Given the description of an element on the screen output the (x, y) to click on. 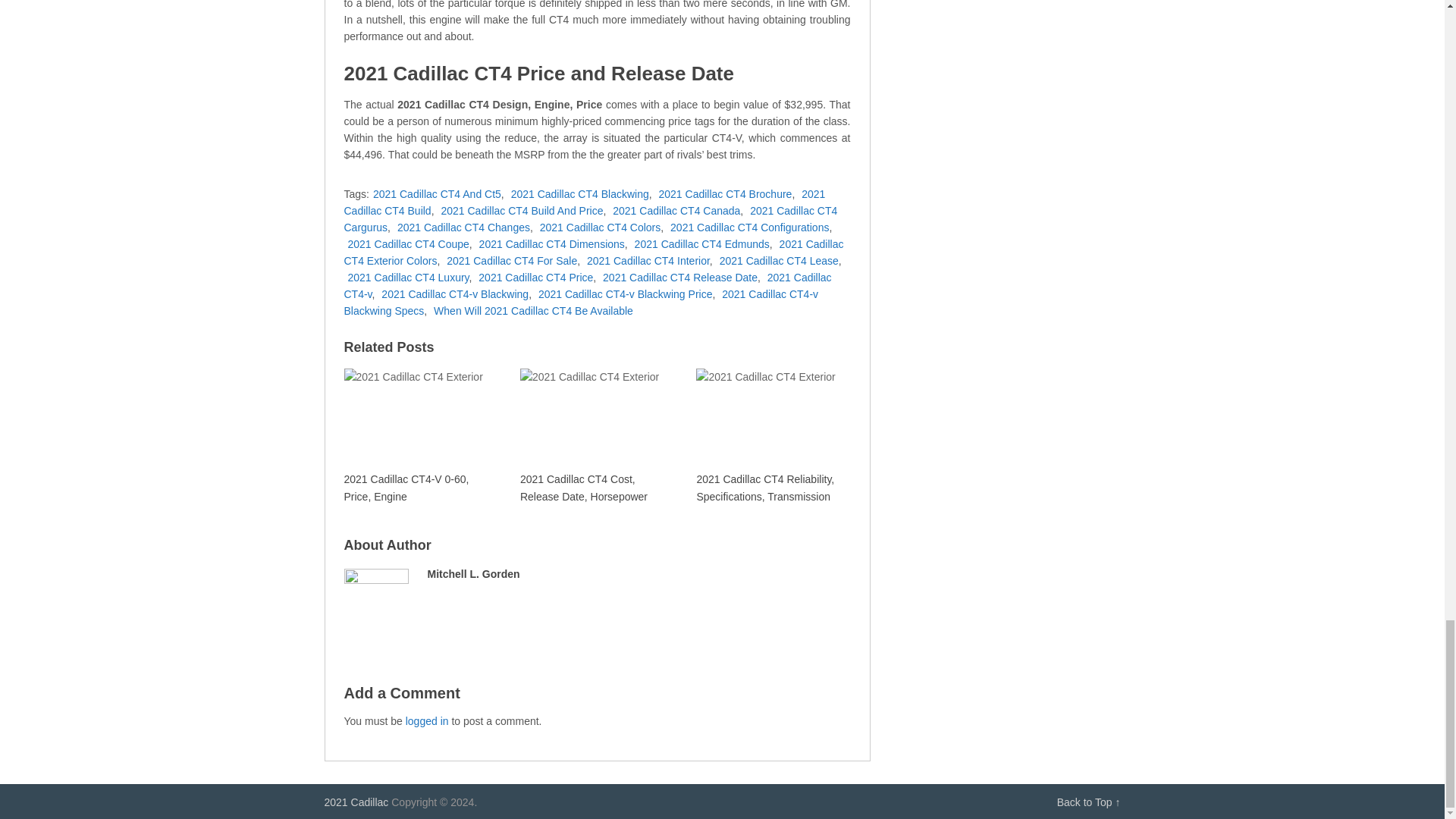
2021 Cadillac CT4 Cost, Release Date, Horsepower (595, 435)
2021 Cadillac CT4 Build (584, 202)
2021 Cadillac CT4 Blackwing (580, 193)
2021 Cadillac CT4 Build And Price (521, 210)
2021 Cadillac CT4 Cargurus (590, 218)
2021-2022 Cadillac Design, Engine, Price, Release (356, 802)
2021 Cadillac CT4 Changes (463, 227)
2021 Cadillac CT4 Reliability, Specifications, Transmission (771, 435)
2021 Cadillac CT4 Canada (675, 210)
2021 Cadillac CT4 Configurations (748, 227)
